Given the description of an element on the screen output the (x, y) to click on. 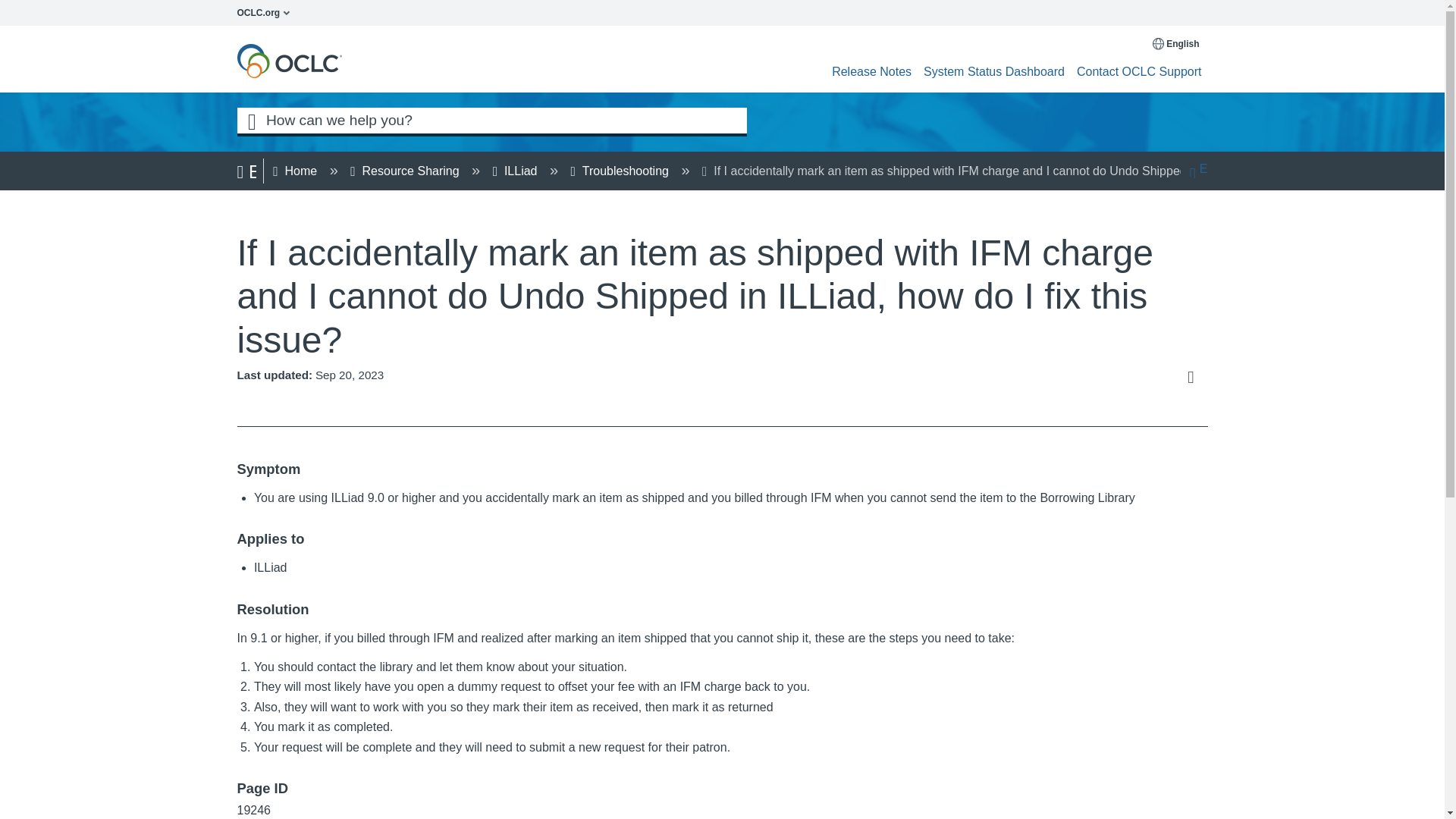
Find release notes for OCLC products and services. (871, 71)
English (1177, 43)
ILLiad (516, 170)
Search (250, 120)
Contact OCLC Support (1139, 71)
Home (296, 170)
OCLC.org (266, 12)
Resource Sharing (406, 170)
OCLC.org Home (266, 12)
System Status Dashboard (993, 71)
